Given the description of an element on the screen output the (x, y) to click on. 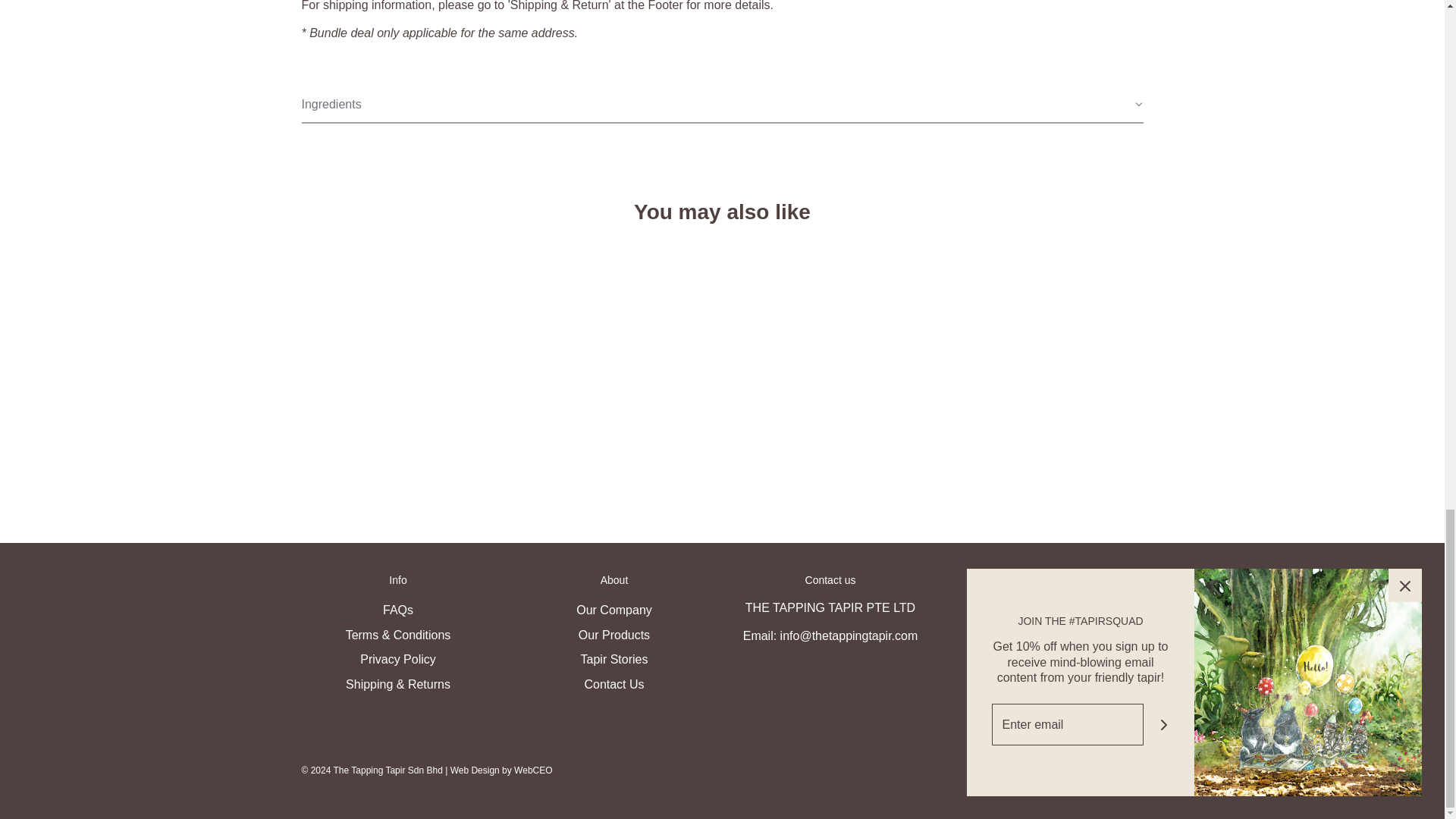
Facebook icon (1034, 611)
Instagram icon (1058, 611)
